Given the description of an element on the screen output the (x, y) to click on. 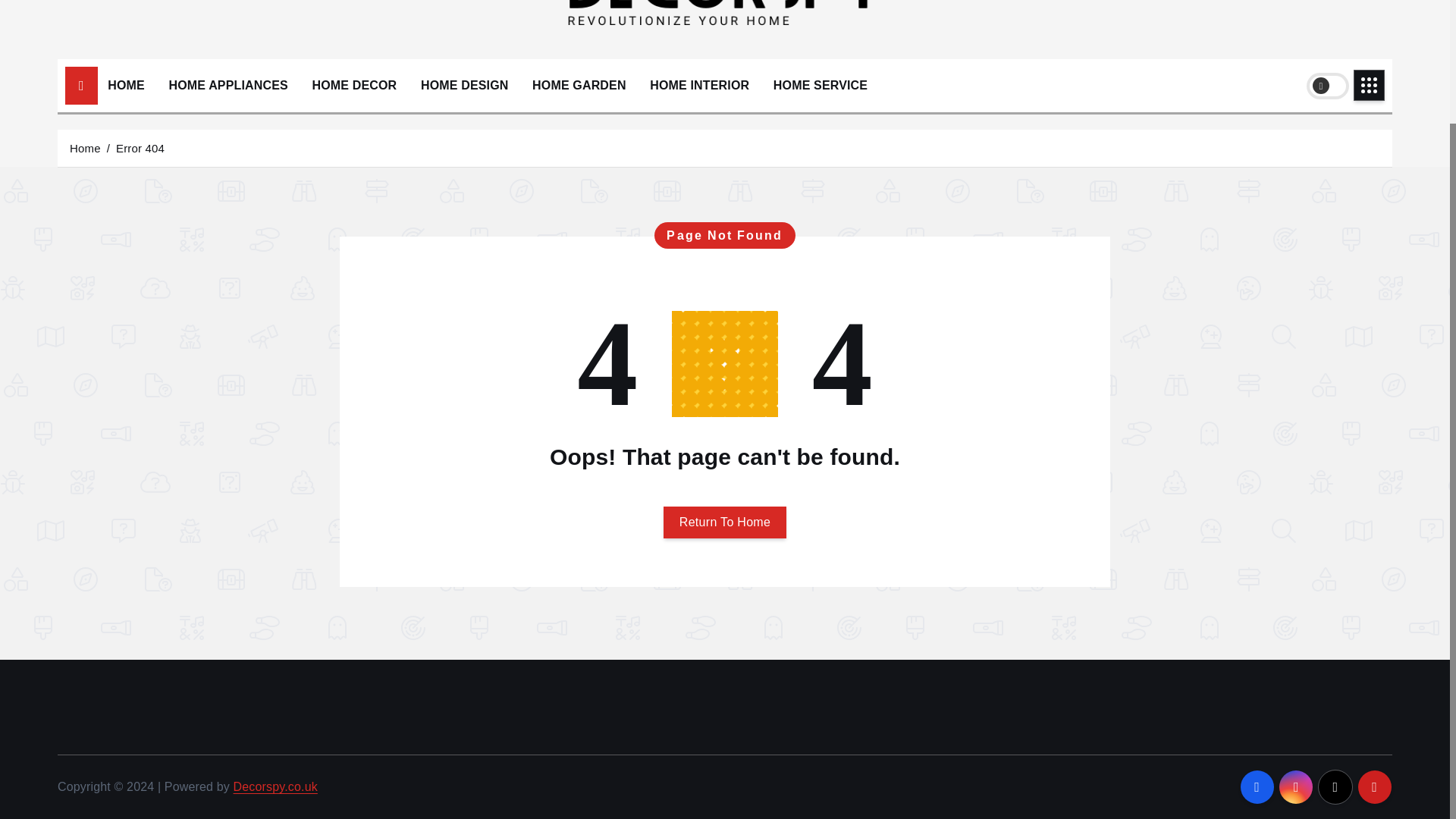
HOME INTERIOR (699, 85)
HOME (125, 85)
HOME DESIGN (464, 85)
HOME DECOR (353, 85)
HOME SERVICE (819, 85)
HOME GARDEN (579, 85)
HOME SERVICE (819, 85)
HOME DESIGN (464, 85)
HOME INTERIOR (699, 85)
HOME DECOR (353, 85)
HOME GARDEN (579, 85)
HOME APPLIANCES (227, 85)
HOME (125, 85)
HOME APPLIANCES (227, 85)
